Given the description of an element on the screen output the (x, y) to click on. 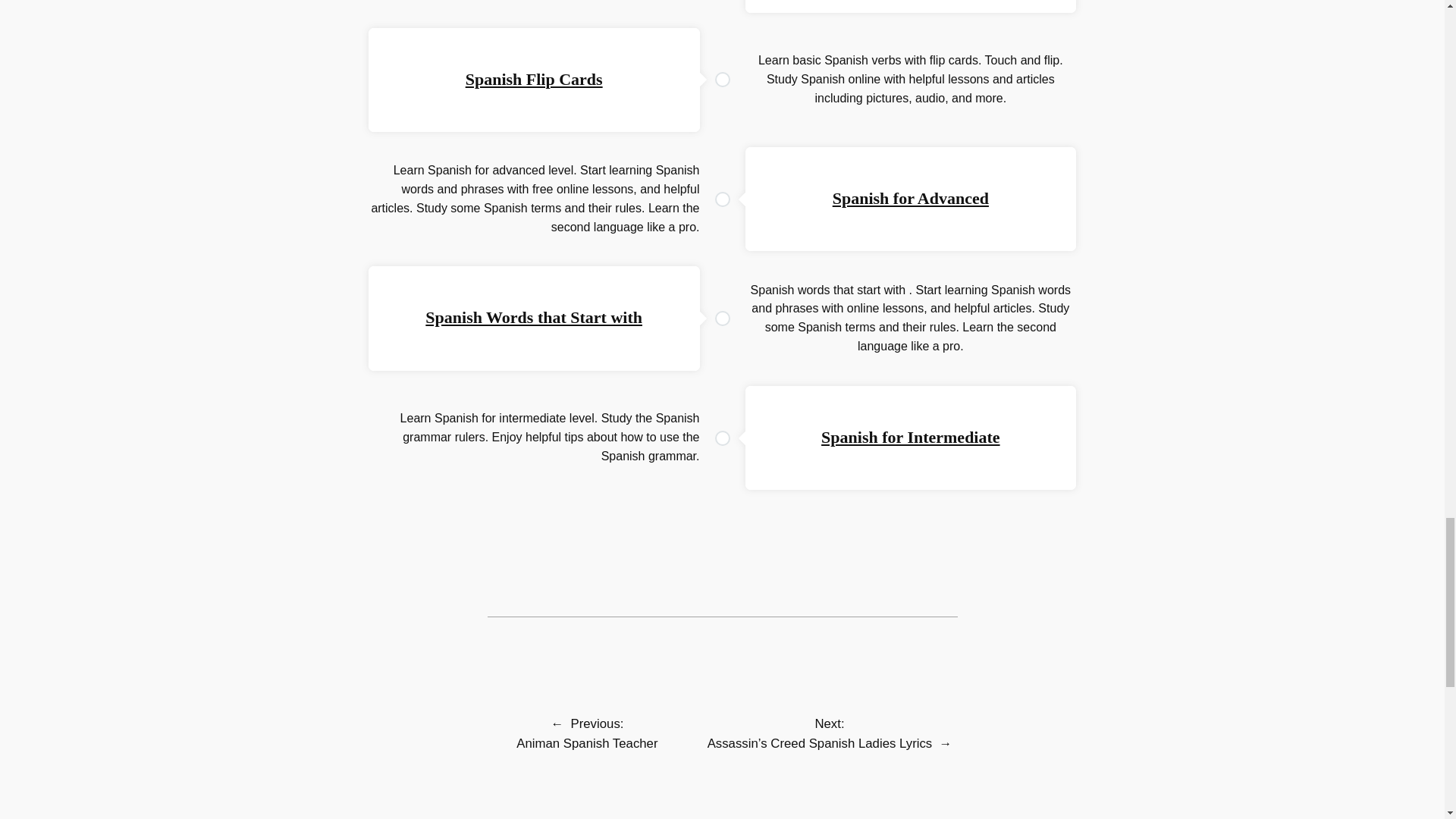
Previous: Animan Spanish Teacher (587, 733)
Spanish for Intermediate (910, 436)
Spanish for Advanced (910, 198)
Spanish Words that Start with (533, 316)
Spanish Flip Cards (533, 78)
